Given the description of an element on the screen output the (x, y) to click on. 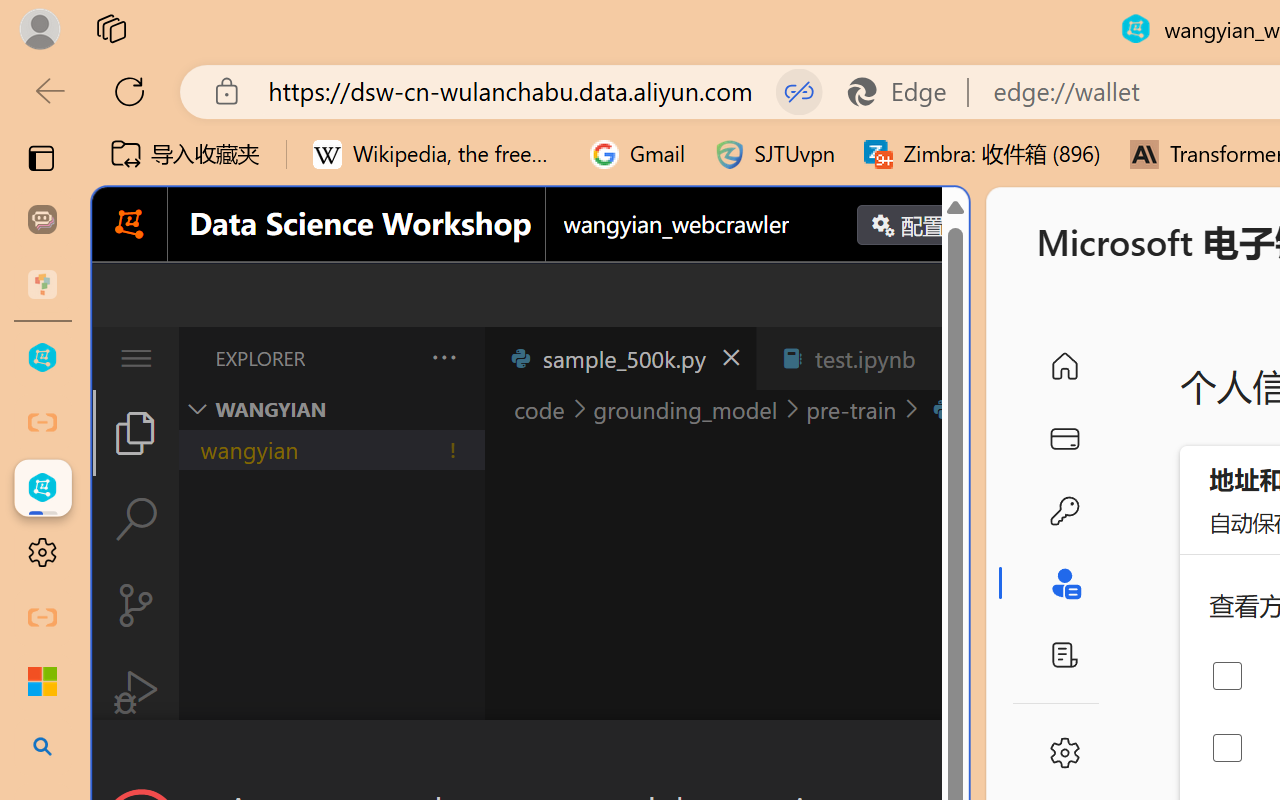
Application Menu (135, 358)
Run and Debug (Ctrl+Shift+D) (135, 692)
Explorer actions (391, 358)
test.ipynb (864, 358)
